Given the description of an element on the screen output the (x, y) to click on. 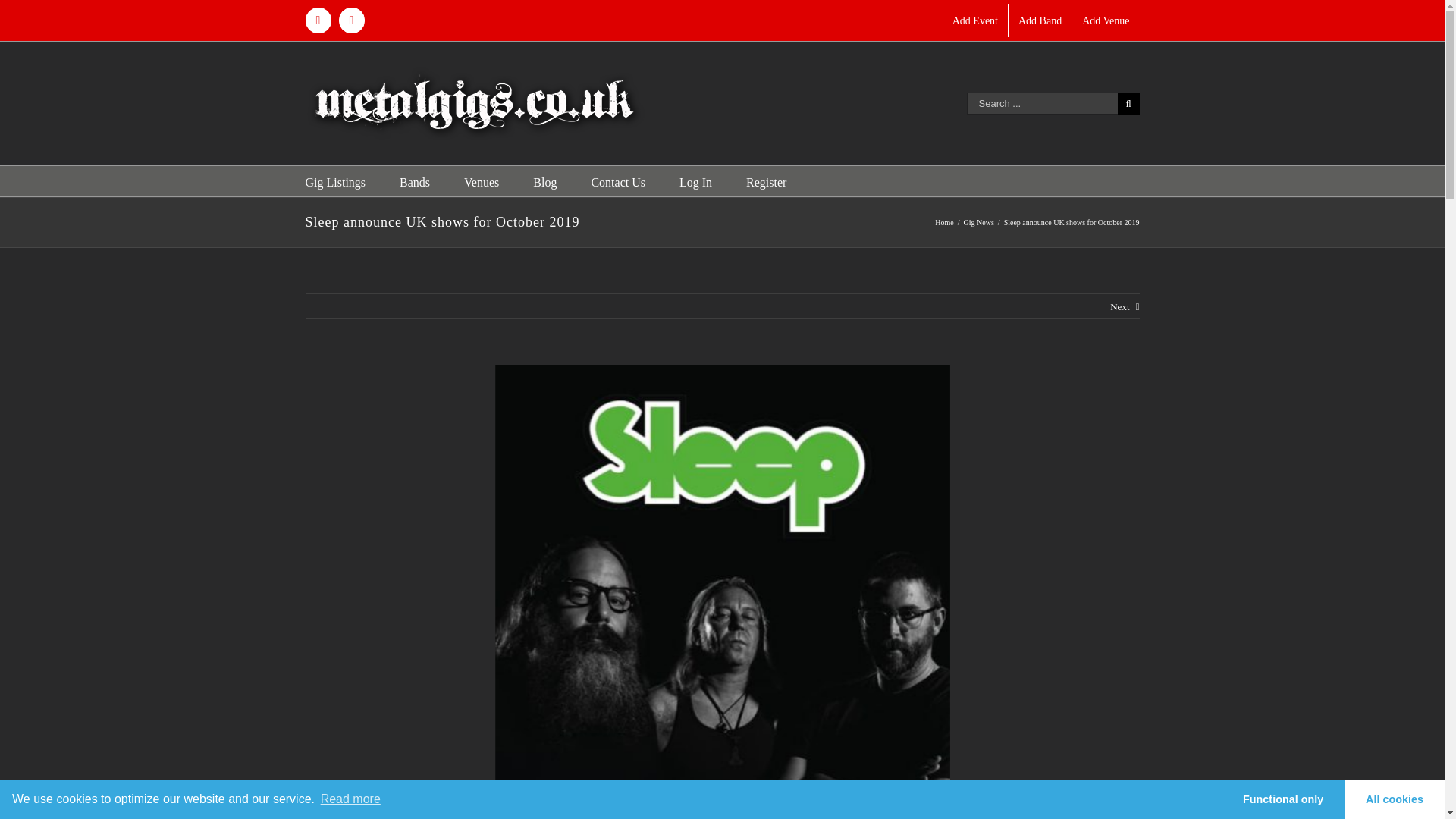
Add Event (974, 20)
Add Venue (1104, 20)
Home (943, 222)
Functional only (1282, 799)
Add Band (1040, 20)
Twitter (350, 20)
Read more (348, 798)
Log In (695, 181)
Register (765, 181)
Facebook (317, 20)
Contact Us (618, 181)
Gig News (978, 222)
Gig Listings (334, 181)
Bands (413, 181)
